Given the description of an element on the screen output the (x, y) to click on. 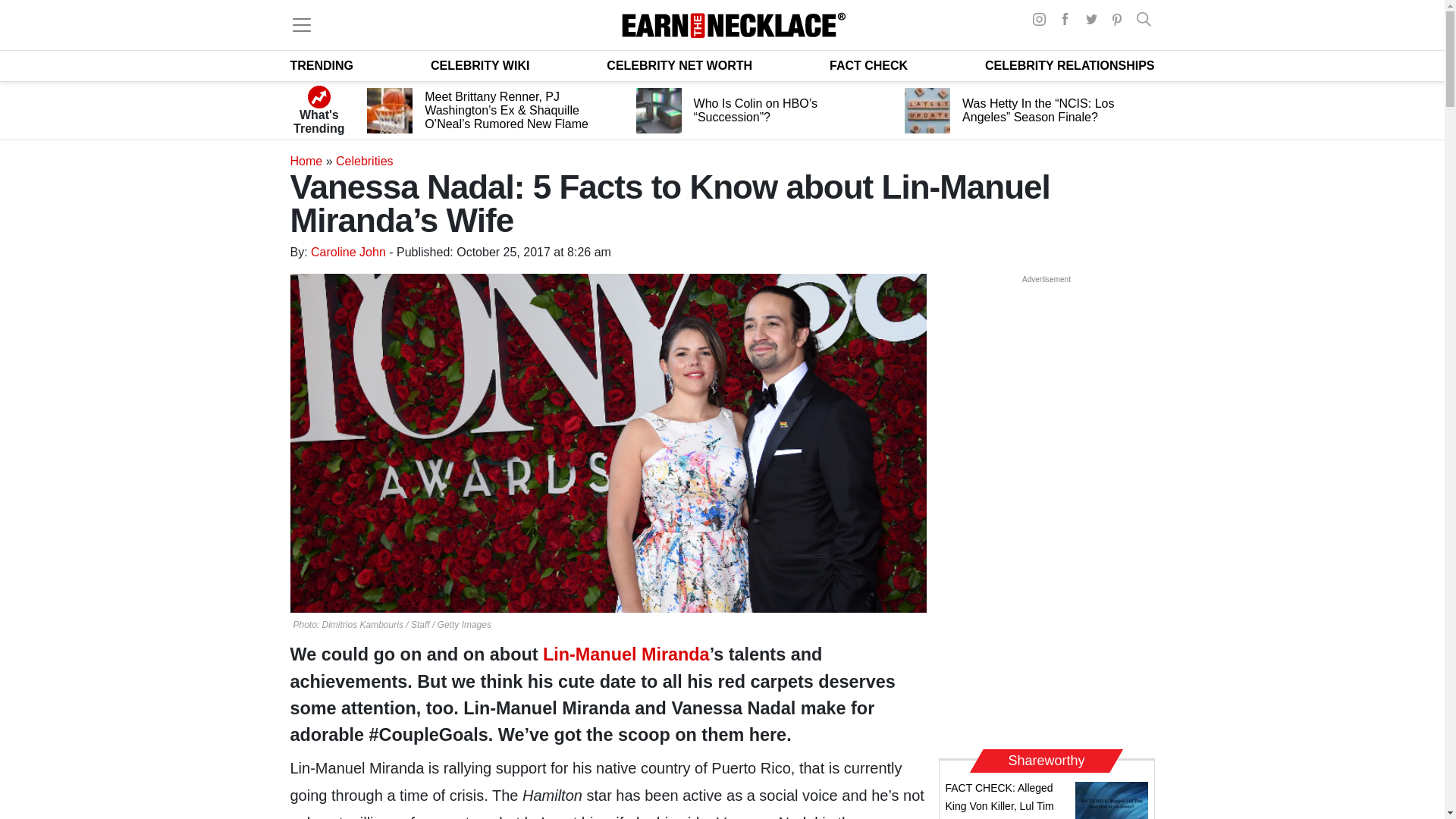
Caroline John (348, 251)
Menu (301, 24)
Home (305, 160)
CELEBRITY RELATIONSHIPS (1069, 65)
CELEBRITY WIKI (479, 65)
FACT CHECK (868, 65)
Advertisement (1046, 512)
TRENDING (321, 65)
Celebrities (364, 160)
Posts by Caroline John (348, 251)
Lin-Manuel Miranda (626, 654)
CELEBRITY NET WORTH (679, 65)
